Given the description of an element on the screen output the (x, y) to click on. 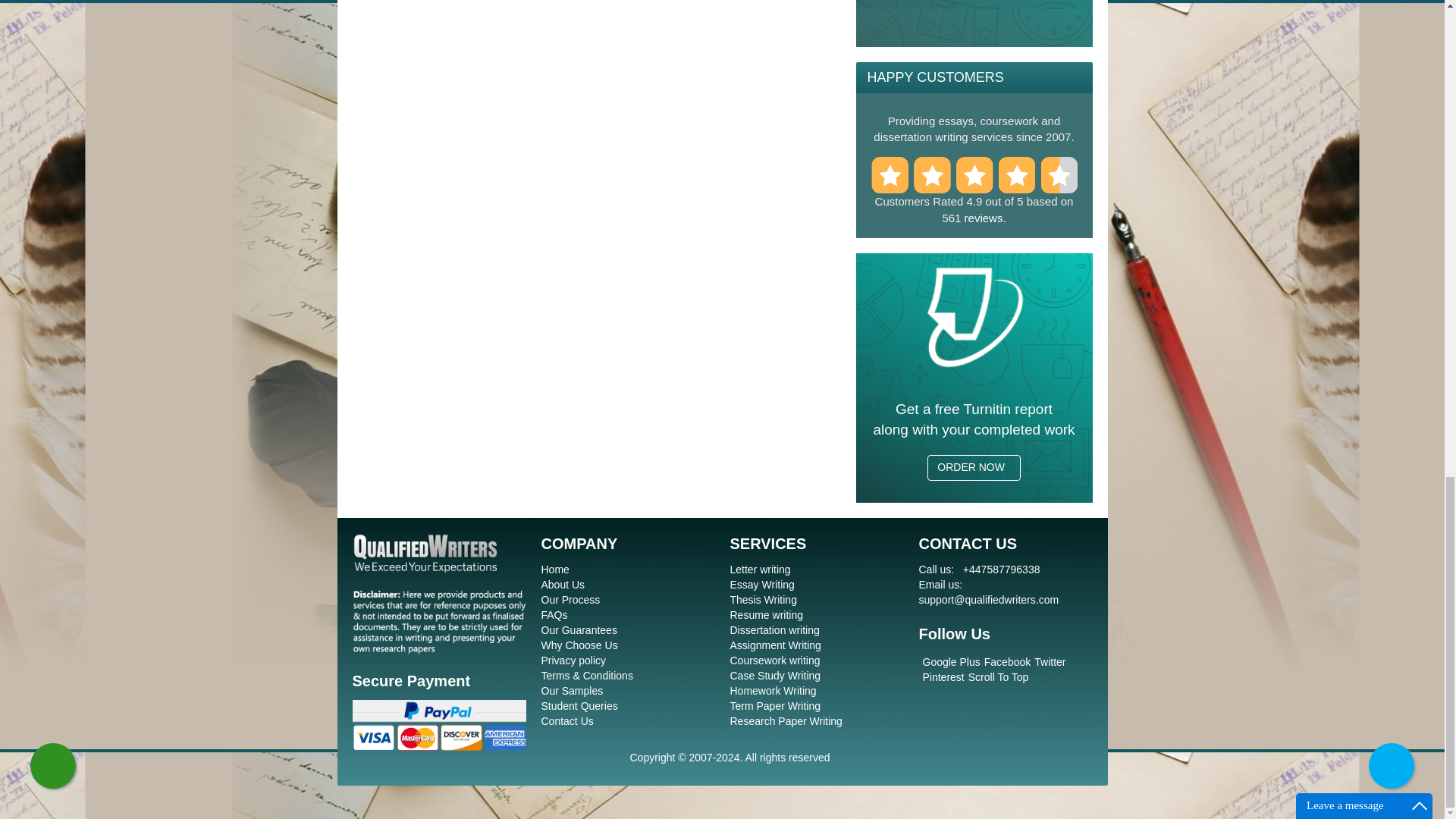
Home (555, 569)
Our Guarantees (579, 630)
Letter writing (759, 569)
Scroll To Top (998, 676)
Why Choose Us (579, 645)
Privacy policy (574, 660)
Thesis Writing (762, 599)
About Us (563, 584)
Resume writing (765, 614)
ORDER NOW   (973, 467)
Student Queries (579, 705)
Our Samples (572, 690)
Our Process (570, 599)
Contact Us (567, 720)
Dissertation writing (773, 630)
